Given the description of an element on the screen output the (x, y) to click on. 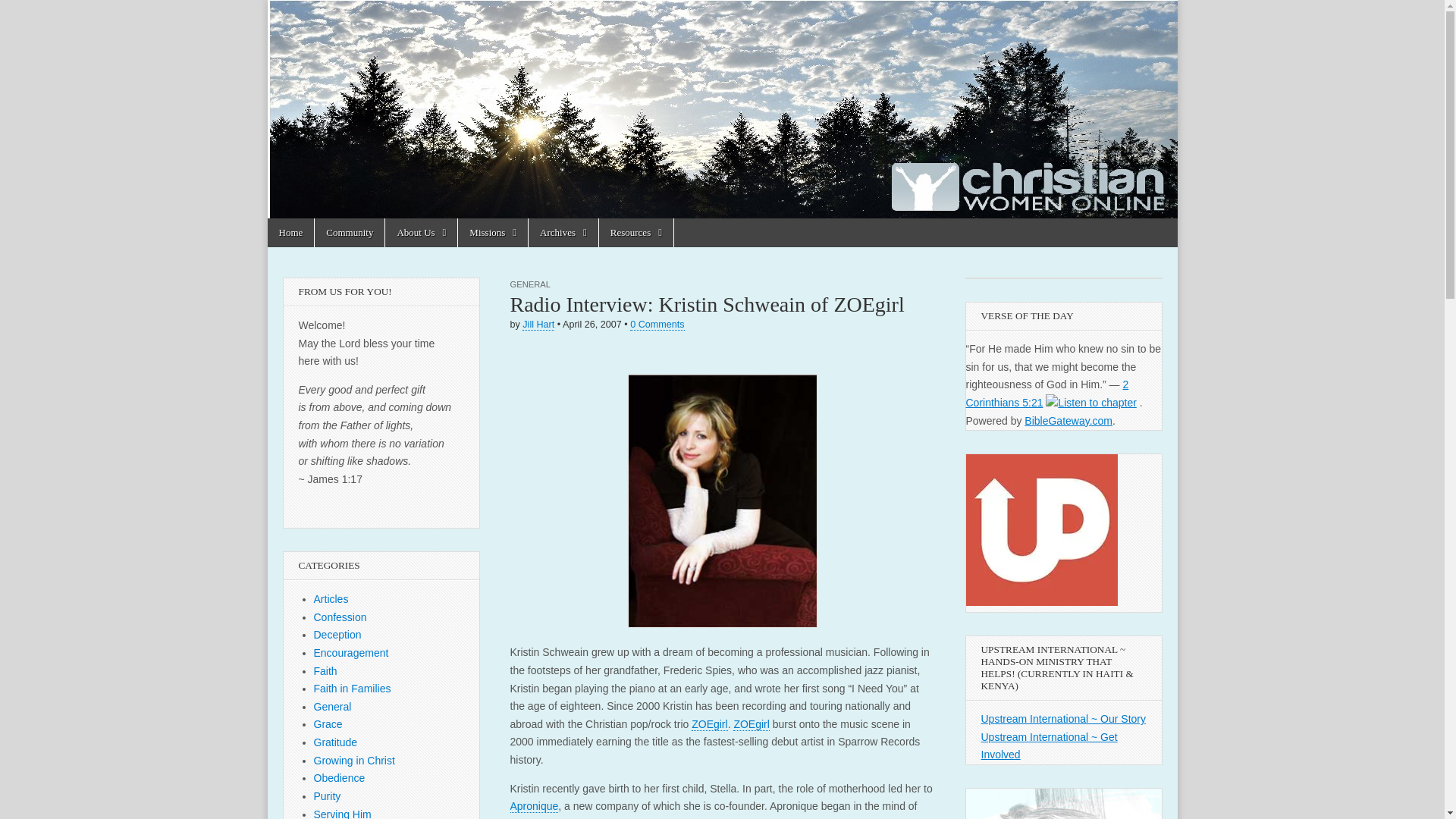
Deception (337, 634)
Posts by Jill Hart (538, 324)
Archives (563, 232)
GENERAL (529, 284)
ZOEgirl (708, 724)
ZOEgirl (750, 724)
Articles (331, 598)
Apronique (533, 806)
About Us (421, 232)
Jill Hart (538, 324)
Confession (340, 616)
Christian Women Online (348, 76)
